Given the description of an element on the screen output the (x, y) to click on. 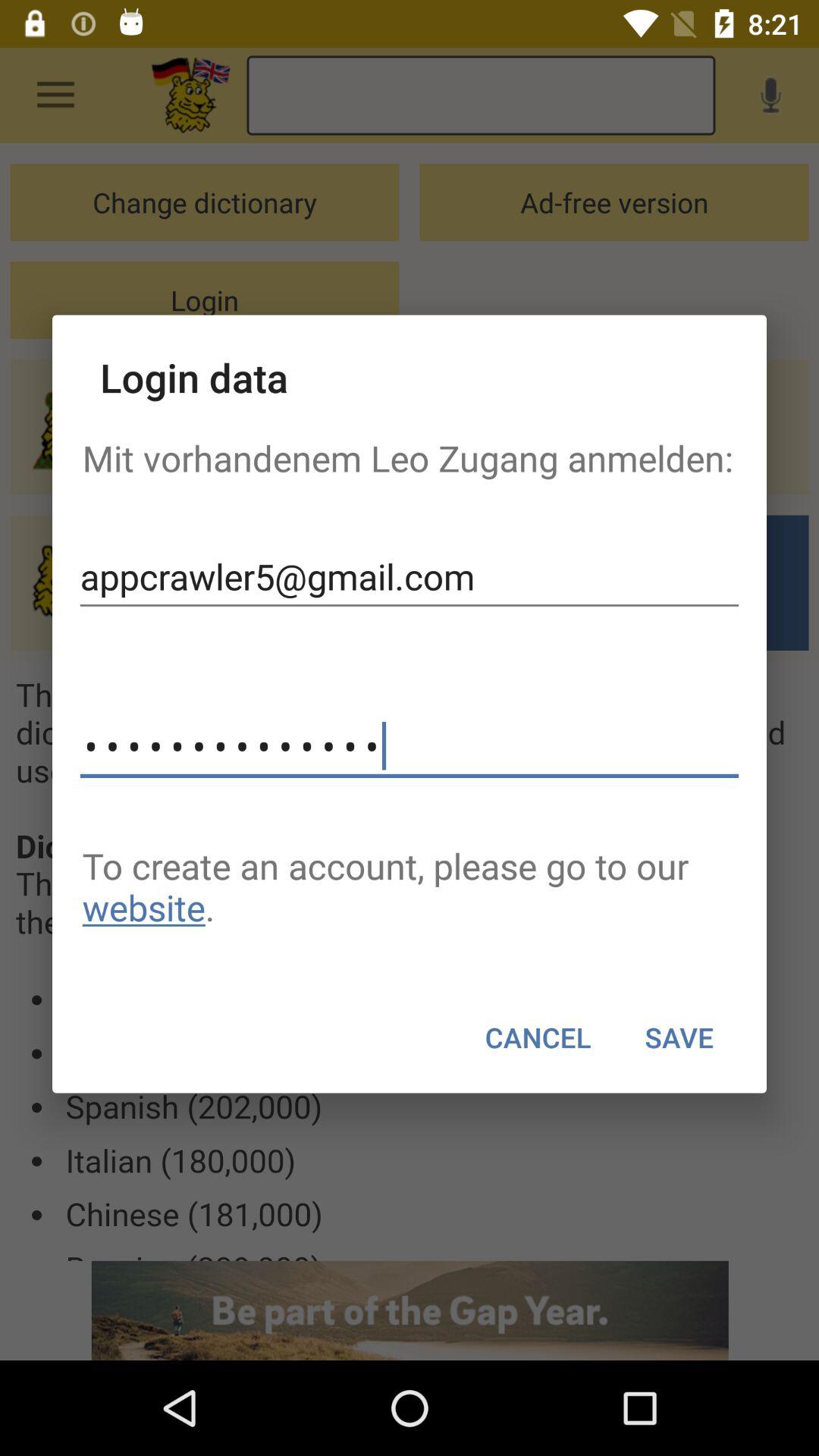
turn on cancel item (538, 1037)
